Given the description of an element on the screen output the (x, y) to click on. 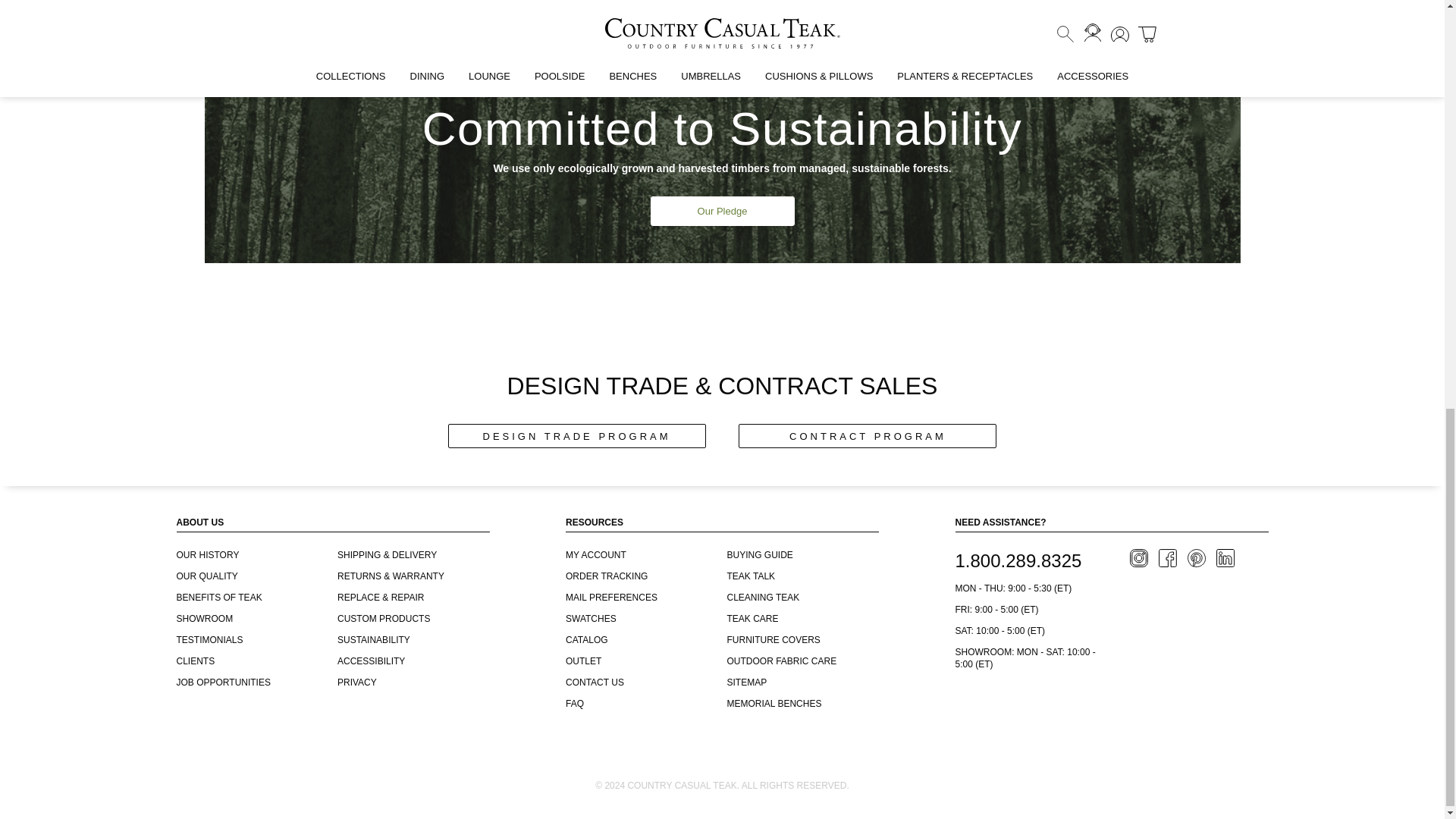
Our Ecological Statement (722, 211)
Our Ecological Statement (722, 209)
Committed to Sustainability (722, 148)
